Given the description of an element on the screen output the (x, y) to click on. 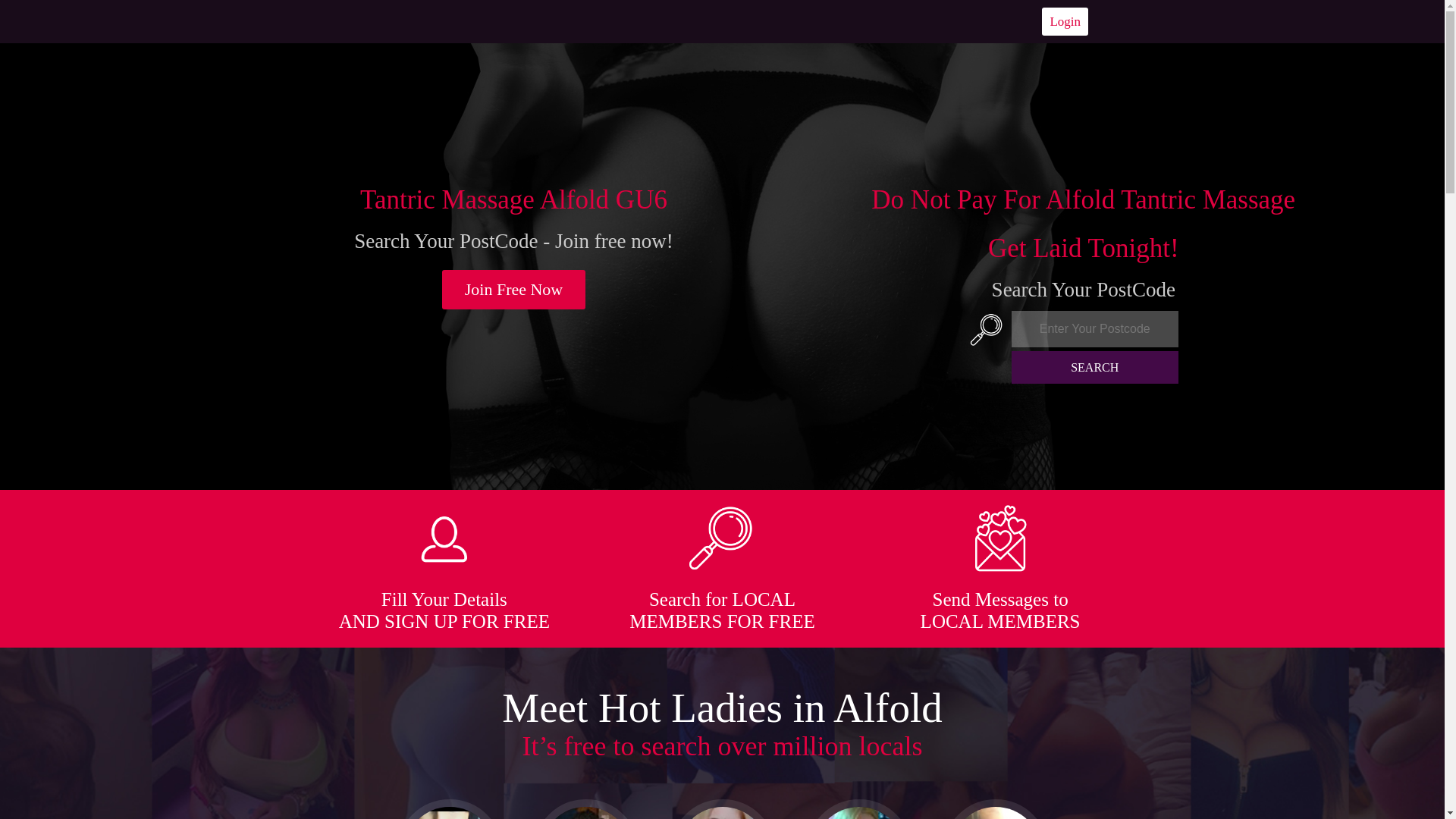
Join Free Now (514, 289)
Join (514, 289)
Login (1064, 21)
Login (1064, 21)
SEARCH (1094, 367)
